Given the description of an element on the screen output the (x, y) to click on. 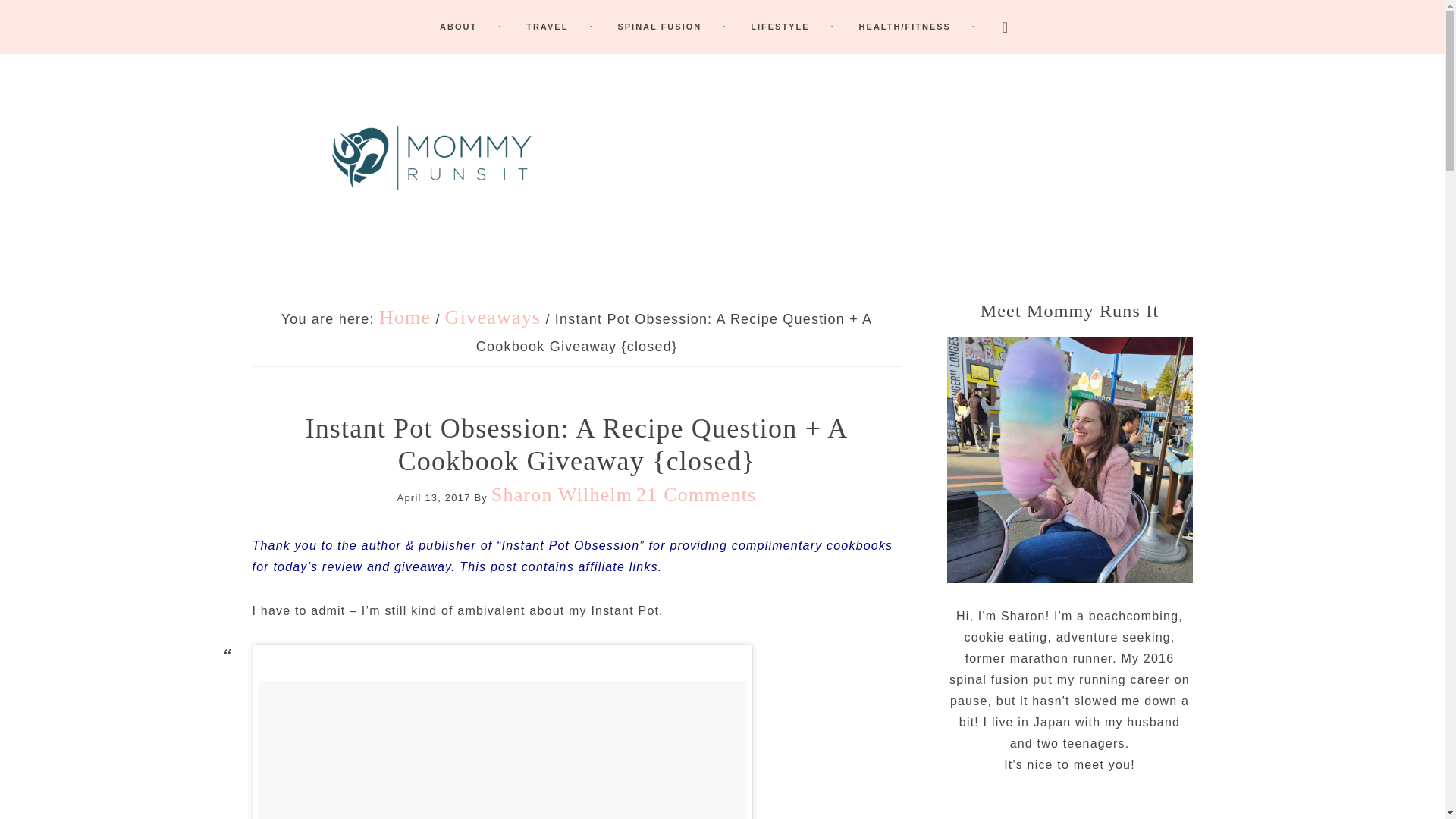
21 Comments (695, 495)
Home (404, 317)
LIFESTYLE (791, 27)
SPINAL FUSION (671, 27)
Sharon Wilhelm (561, 495)
TRAVEL (559, 27)
Giveaways (492, 317)
